Given the description of an element on the screen output the (x, y) to click on. 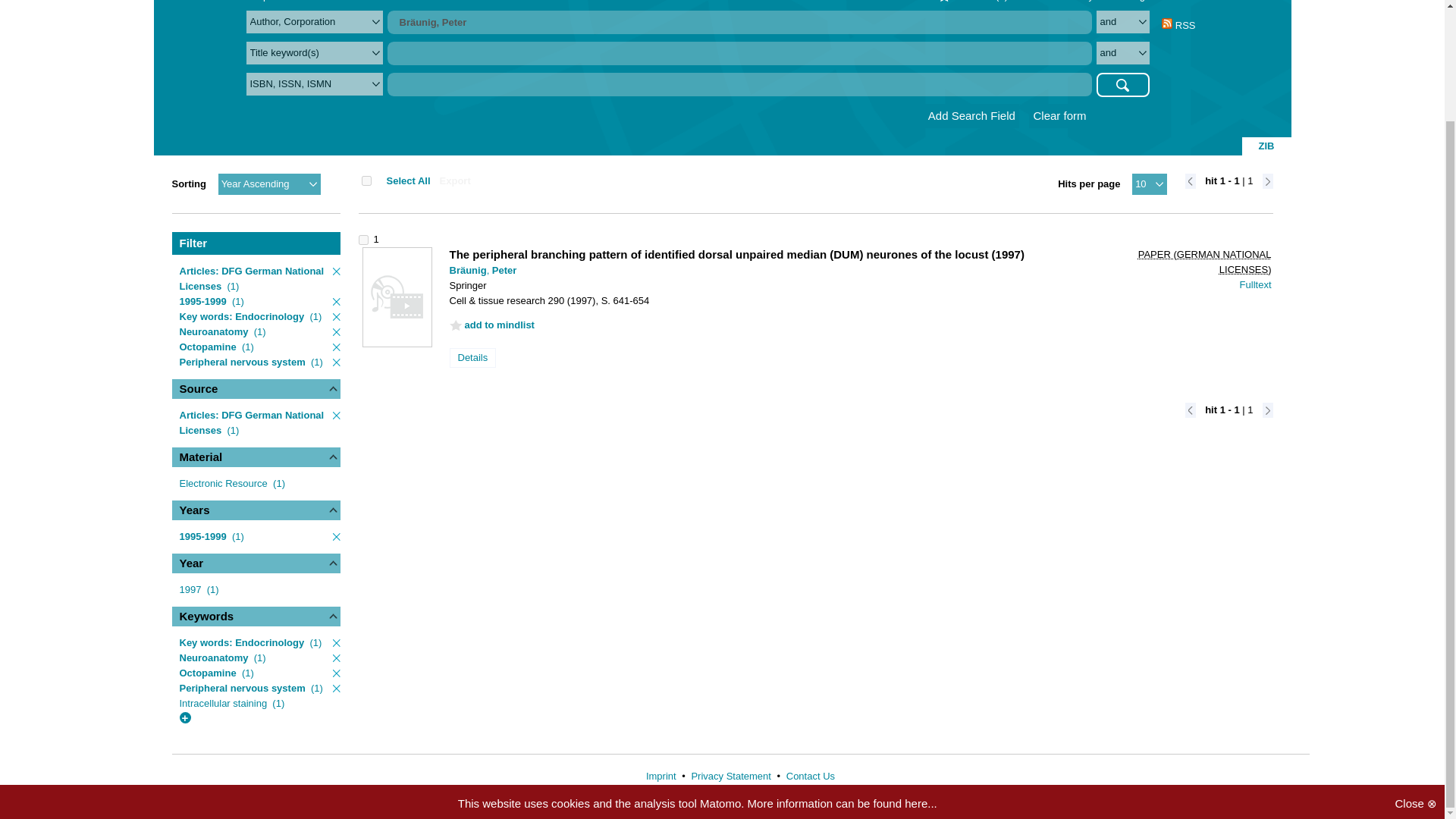
Clear form (1059, 115)
Search (1123, 84)
Settings (1132, 0)
Add Search Field (971, 115)
on (366, 180)
Simple Search (278, 0)
Search History (1061, 0)
